Given the description of an element on the screen output the (x, y) to click on. 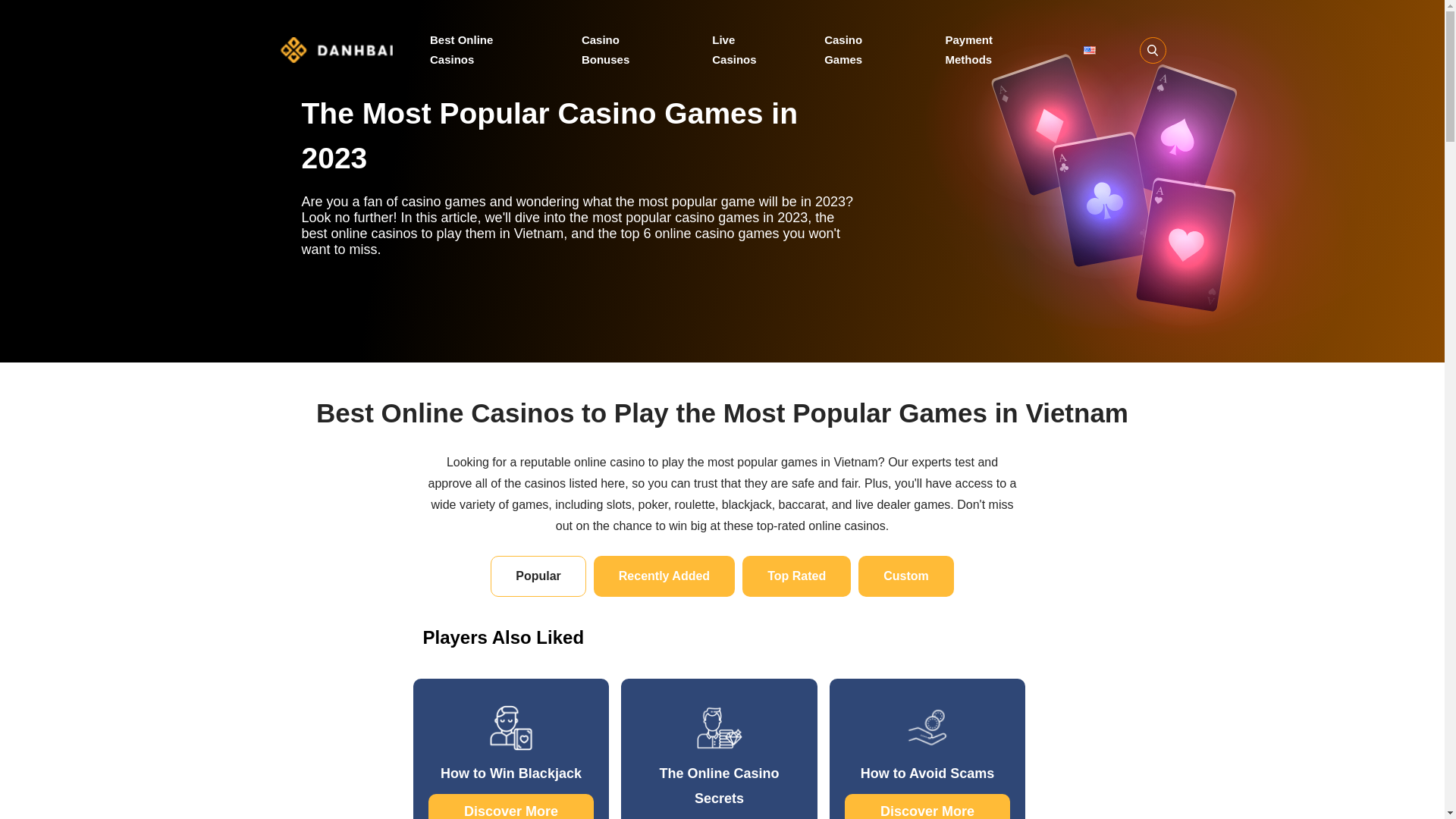
Best Online Casinos (483, 49)
Live Casinos (745, 49)
Payment Methods (991, 49)
Casino Bonuses (624, 49)
Recently Added (664, 576)
Top Rated (796, 576)
Discover More (511, 806)
Popular (538, 576)
Custom (906, 576)
Casino Games (862, 49)
